Given the description of an element on the screen output the (x, y) to click on. 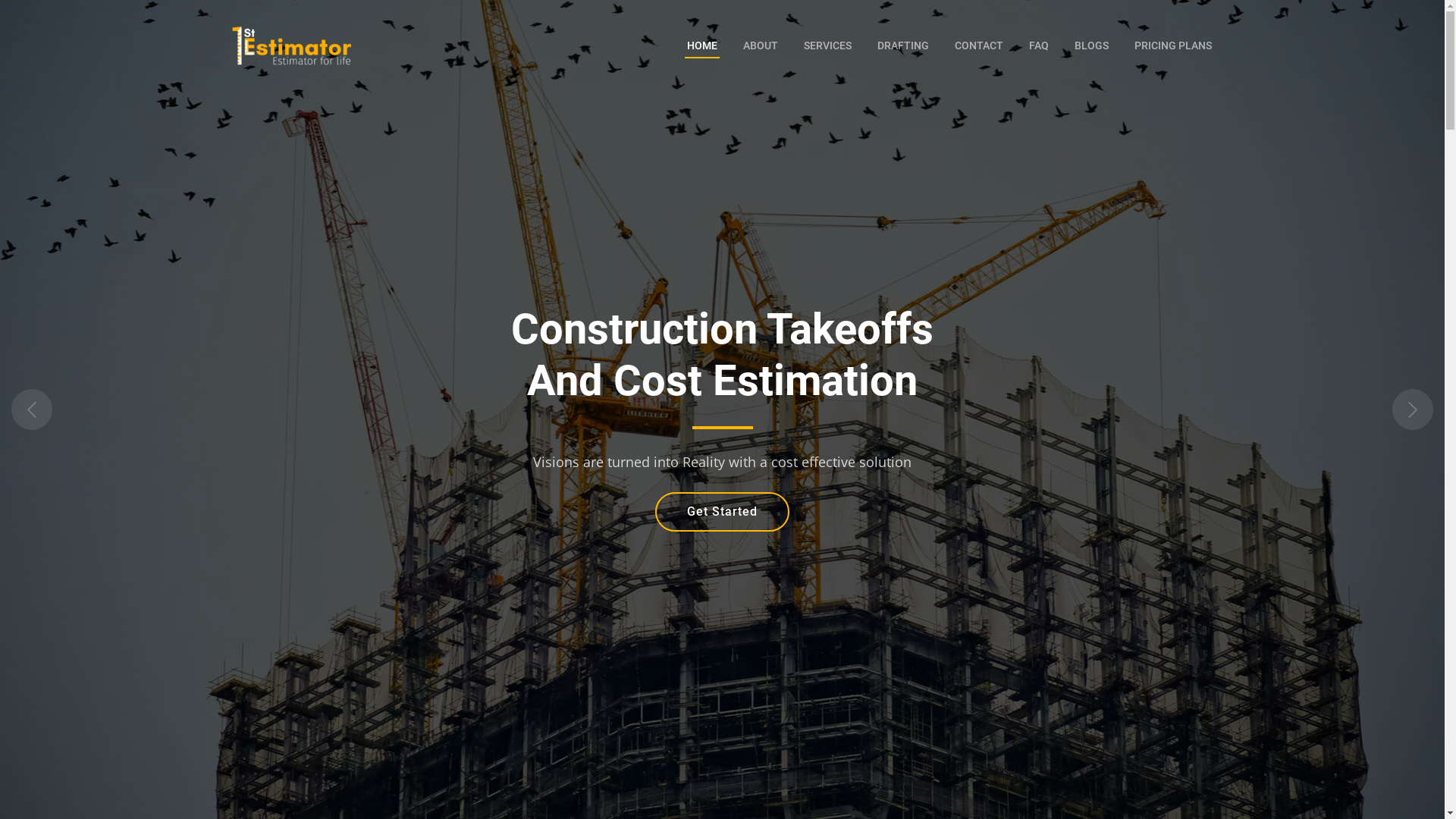
BLOGS Element type: text (1091, 45)
PRICING PLANS Element type: text (1172, 45)
ABOUT Element type: text (759, 45)
FAQ Element type: text (1038, 45)
HOME Element type: text (701, 45)
SERVICES Element type: text (826, 45)
CONTACT Element type: text (978, 45)
DRAFTING Element type: text (903, 45)
Get Started Element type: text (722, 511)
